Given the description of an element on the screen output the (x, y) to click on. 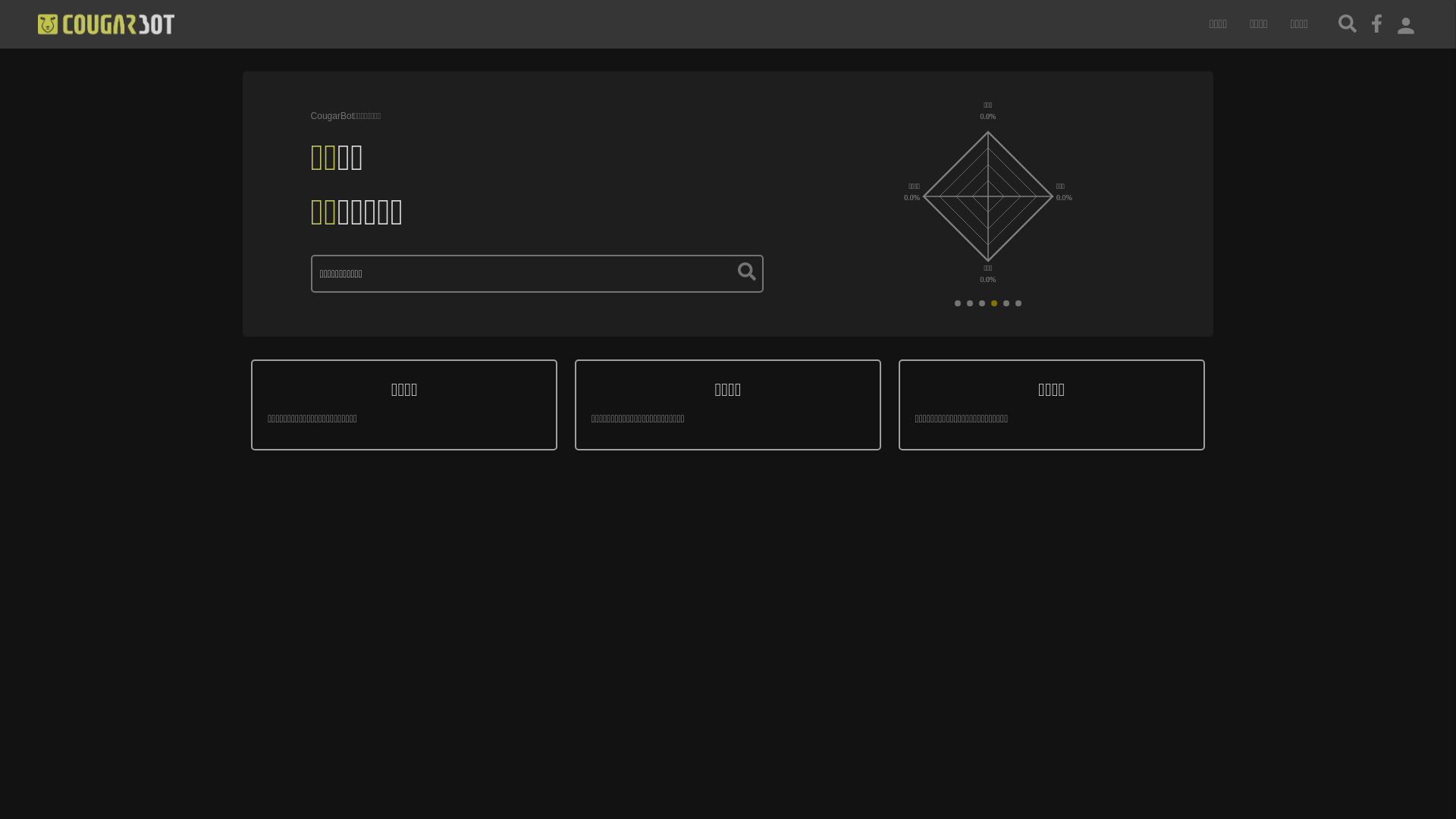
person Element type: text (1405, 24)
